Given the description of an element on the screen output the (x, y) to click on. 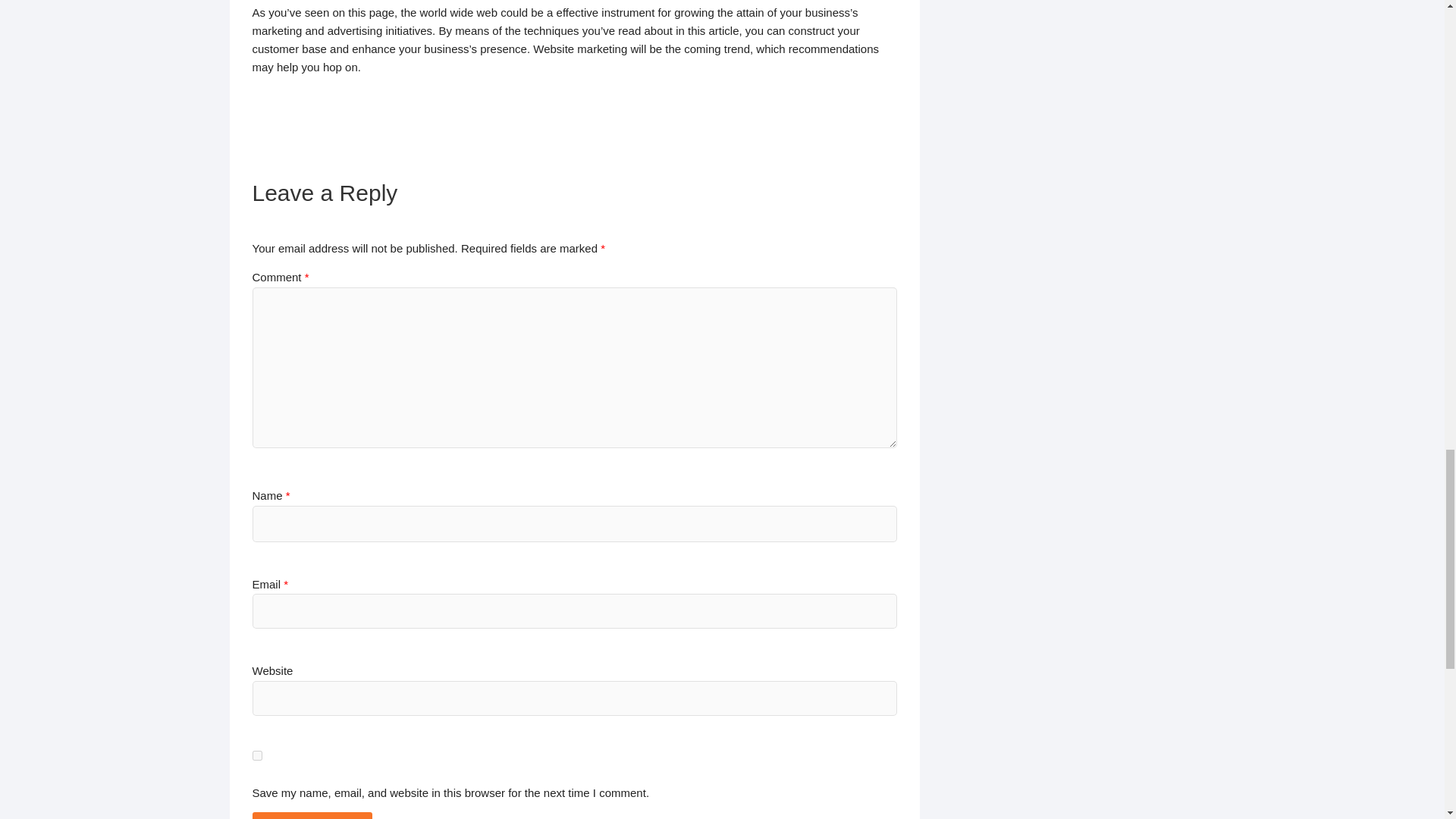
yes (256, 755)
Post Comment (311, 815)
